Given the description of an element on the screen output the (x, y) to click on. 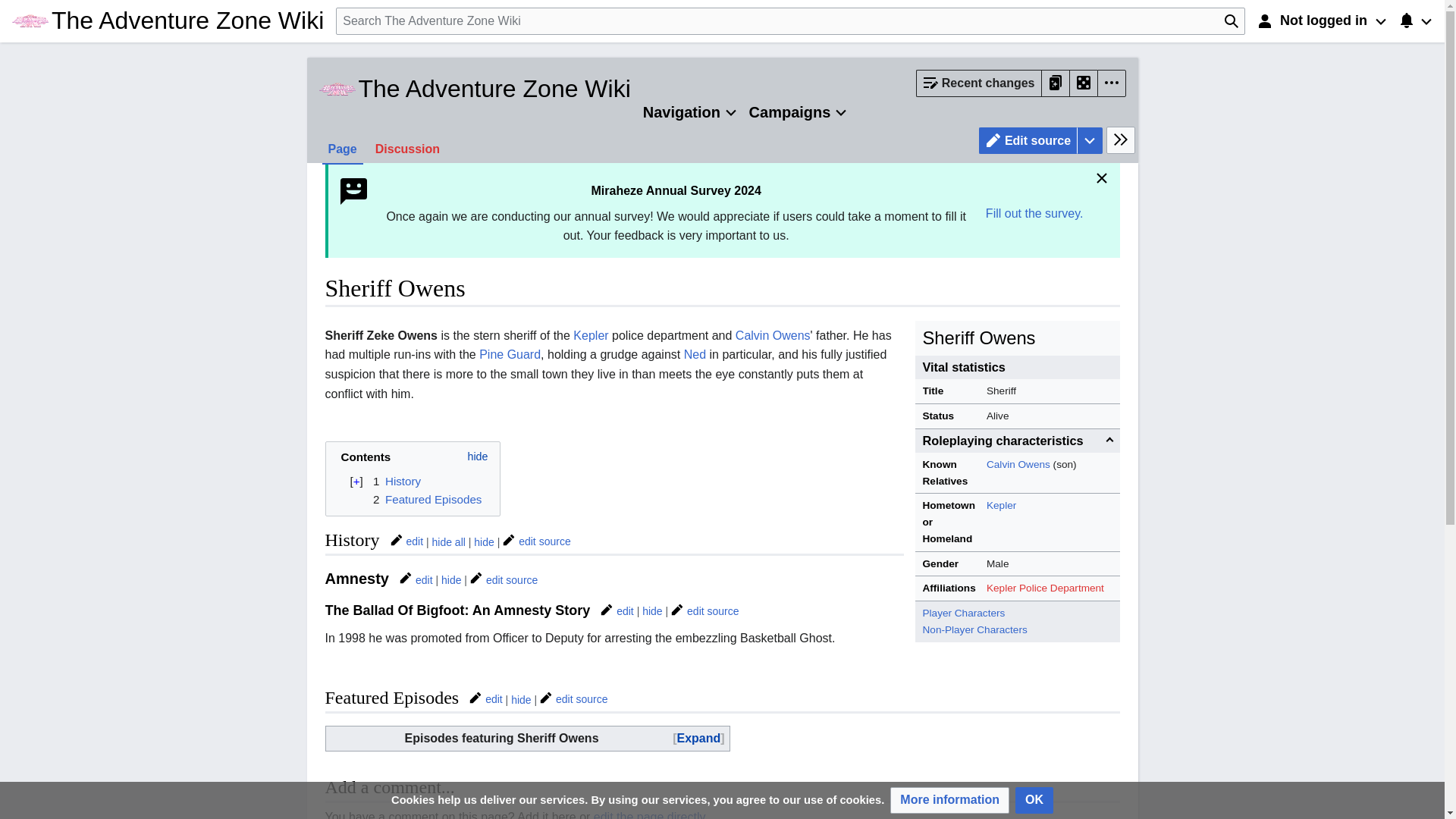
User menu (1321, 21)
Special pages (1055, 83)
Search (1230, 21)
The Adventure Zone Wiki (474, 88)
Go (1230, 21)
Page (341, 149)
Edit source (1028, 140)
Go (1230, 21)
Random page (1082, 83)
Go to a page with this exact name if it exists (1230, 21)
The Adventure Zone Wiki (167, 20)
Go (1230, 21)
Fill out the survey. (1034, 213)
Recent changes (979, 83)
